Given the description of an element on the screen output the (x, y) to click on. 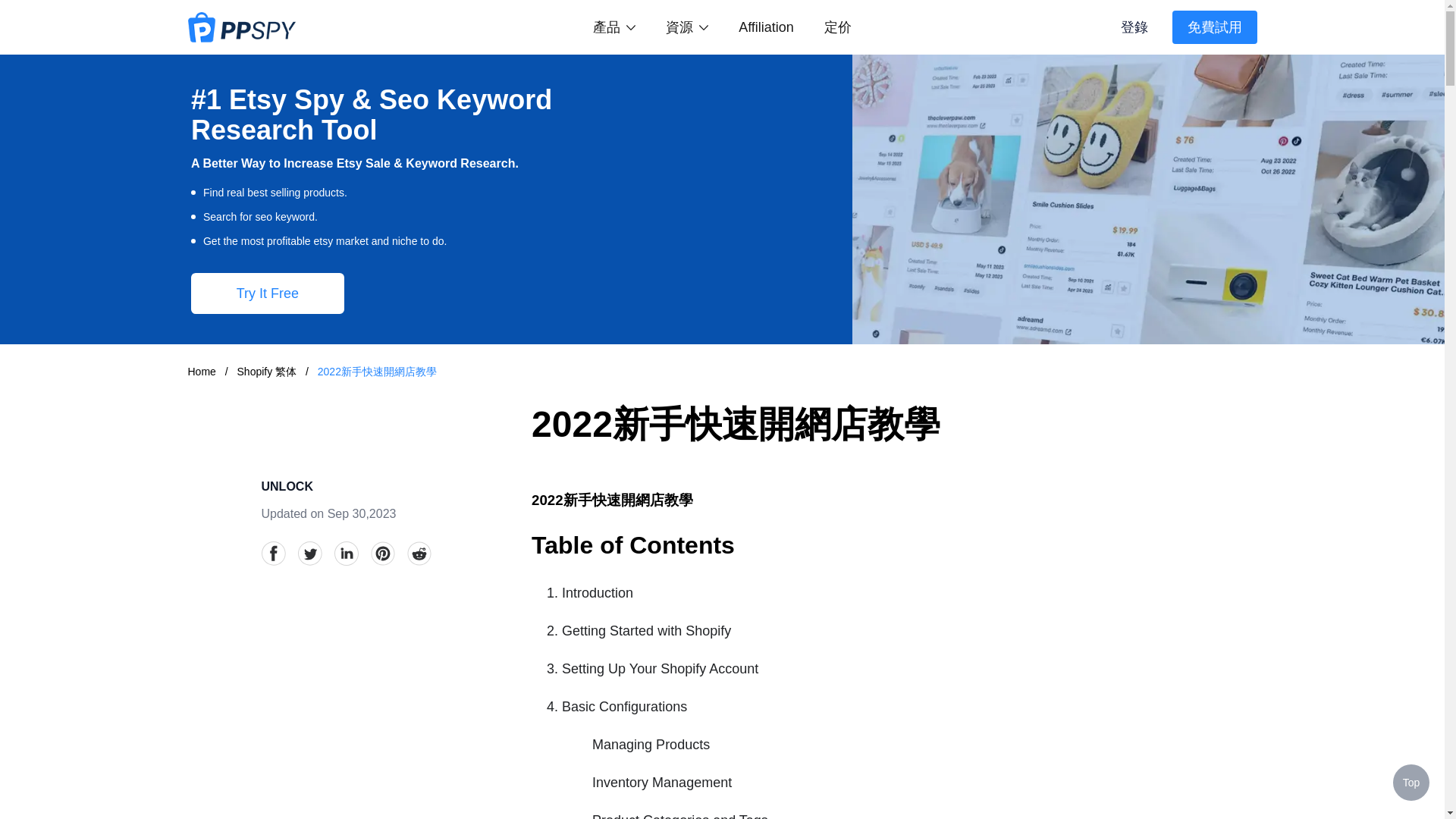
reddit (418, 553)
Try It Free (266, 292)
UNLOCK (286, 486)
pinterest (381, 553)
Home (201, 371)
facebook (272, 553)
linkedin (345, 553)
Affiliation (765, 27)
Twitter (309, 553)
